Given the description of an element on the screen output the (x, y) to click on. 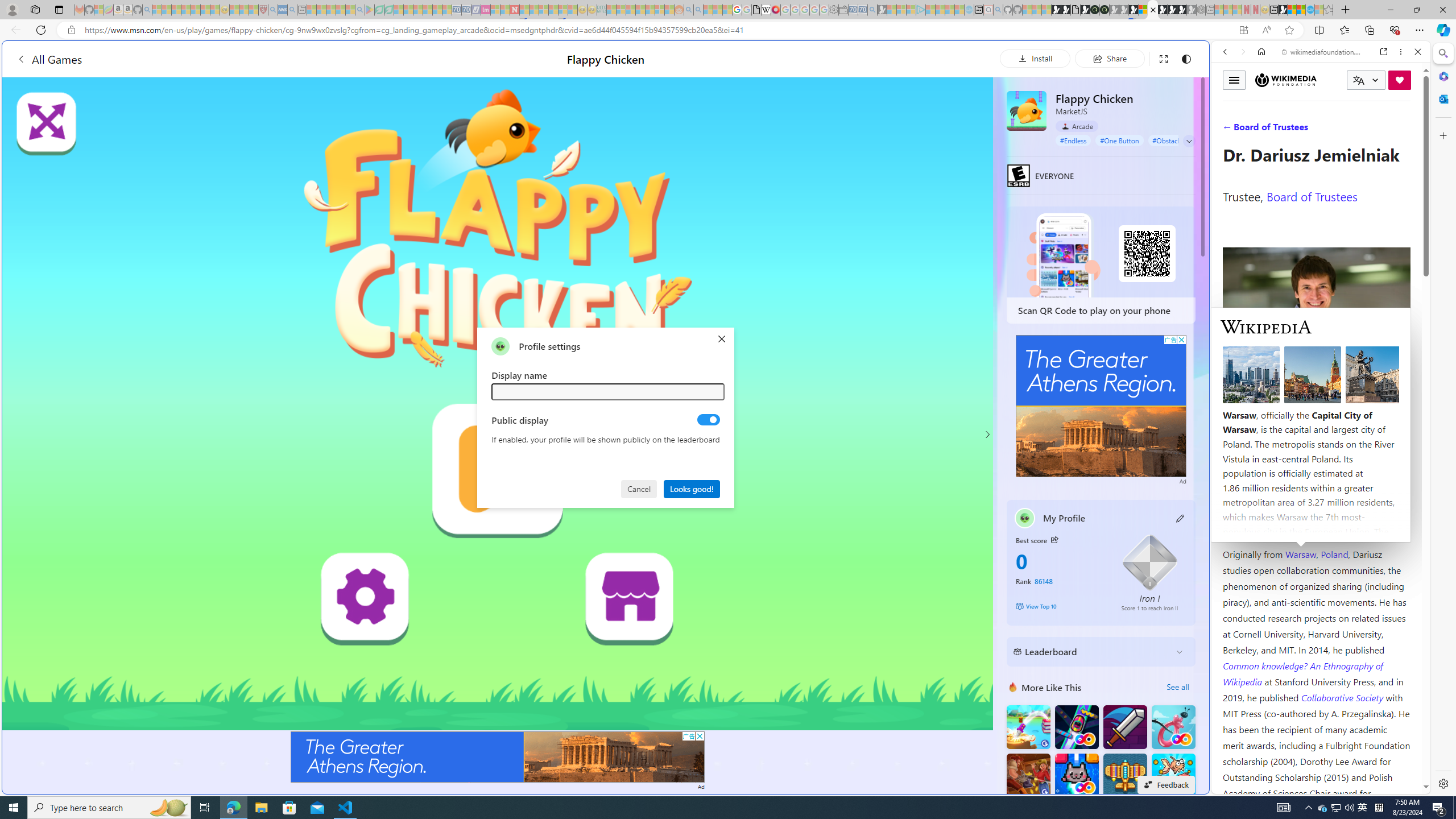
Latest Politics News & Archive | Newsweek.com - Sleeping (514, 9)
WEB   (1230, 130)
Leaderboard (1091, 651)
Knife Flip (1028, 726)
Class: i icon icon-translate language-switcher__icon (1358, 80)
